Given the description of an element on the screen output the (x, y) to click on. 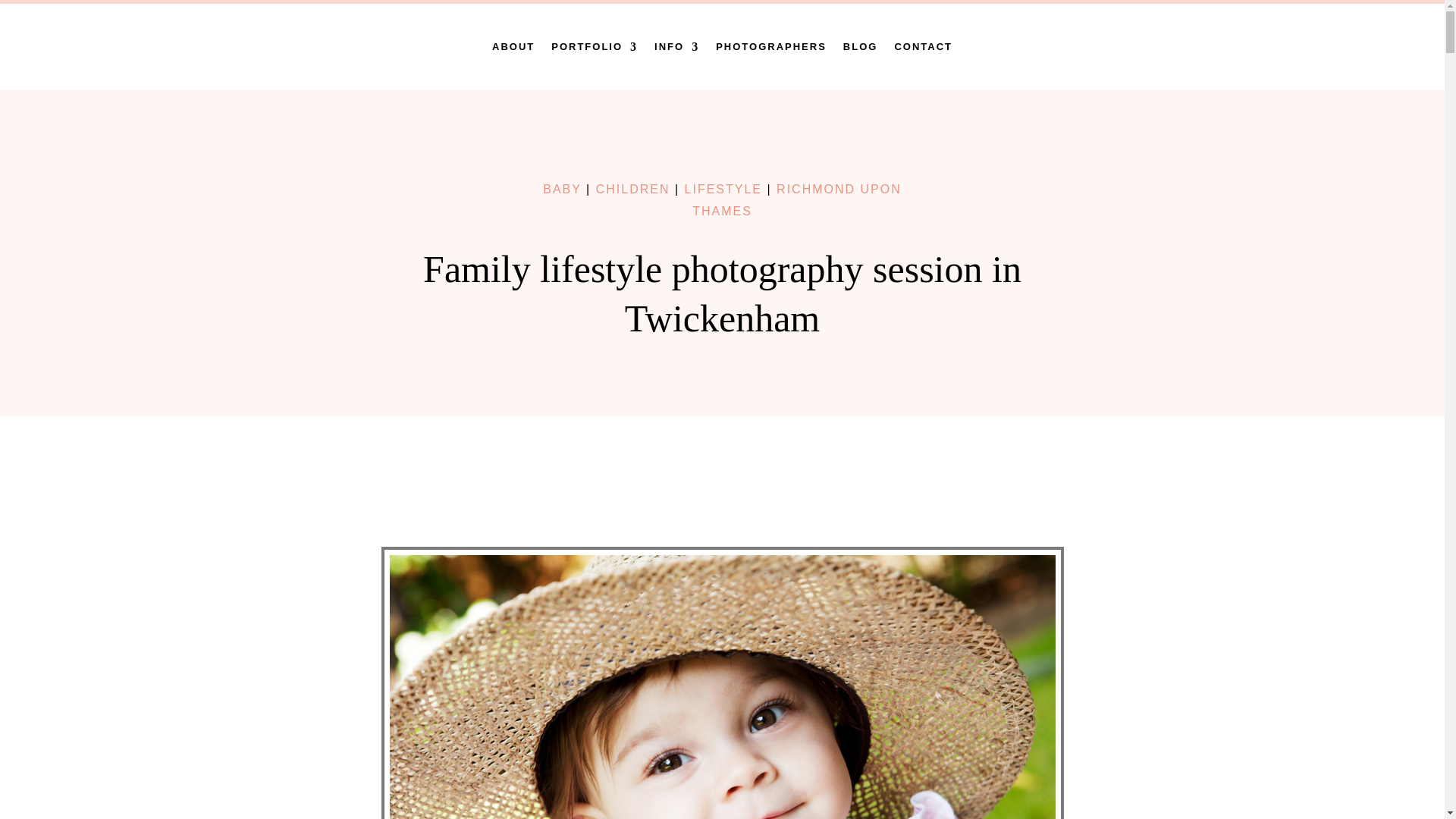
PORTFOLIO (594, 47)
PHOTOGRAPHERS (771, 47)
CONTACT (922, 47)
LIFESTYLE (722, 188)
RICHMOND UPON THAMES (797, 199)
CHILDREN (632, 188)
BABY (561, 188)
